Given the description of an element on the screen output the (x, y) to click on. 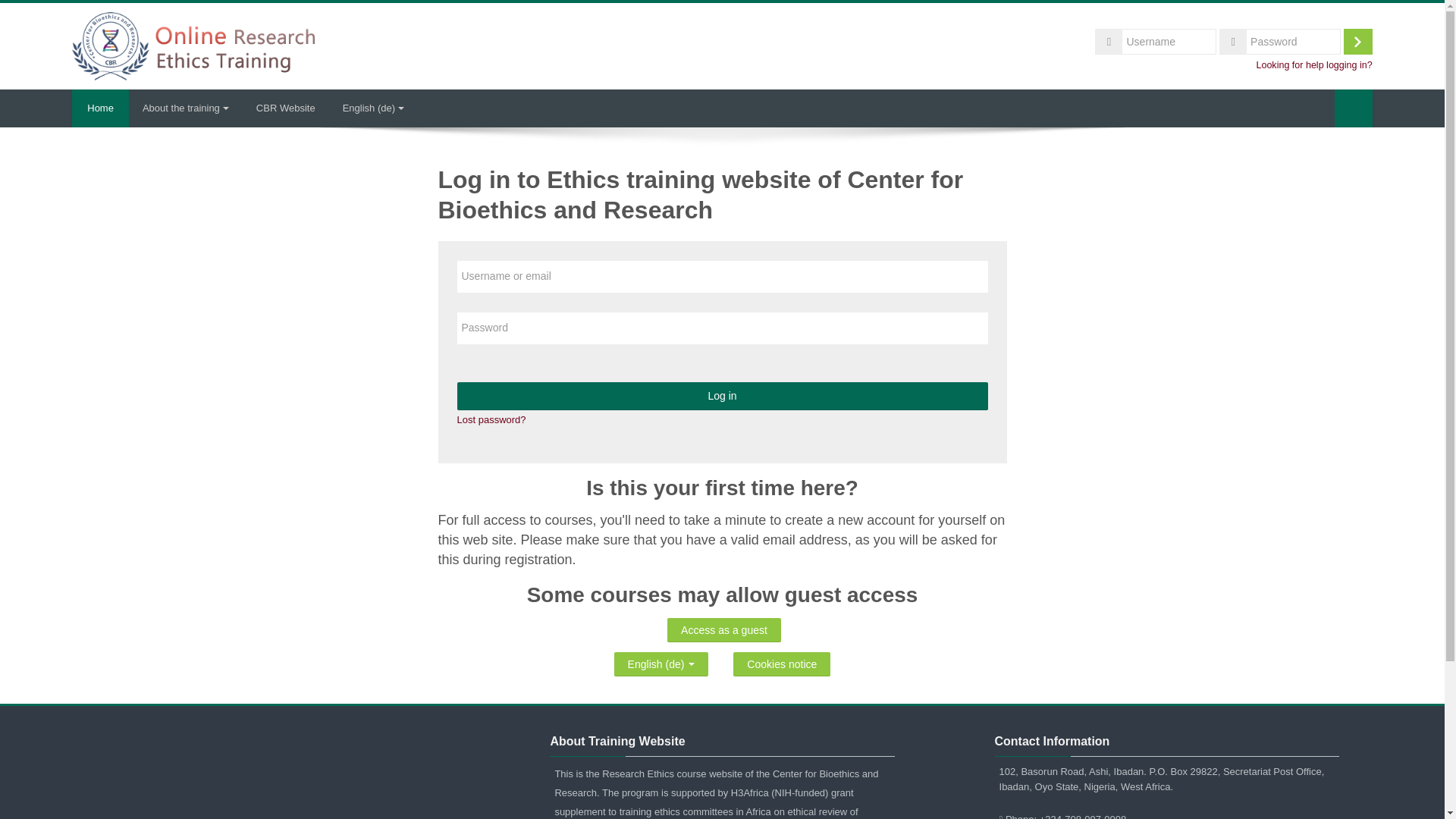
Search courses (1354, 108)
Log in (1358, 41)
Log in (722, 396)
Home (100, 108)
Language (373, 108)
Access as a guest (723, 630)
Lost password? (491, 419)
CBR Website (286, 108)
About the training (186, 108)
Home (192, 44)
Submit (1354, 108)
Looking for help logging in? (1313, 64)
